Given the description of an element on the screen output the (x, y) to click on. 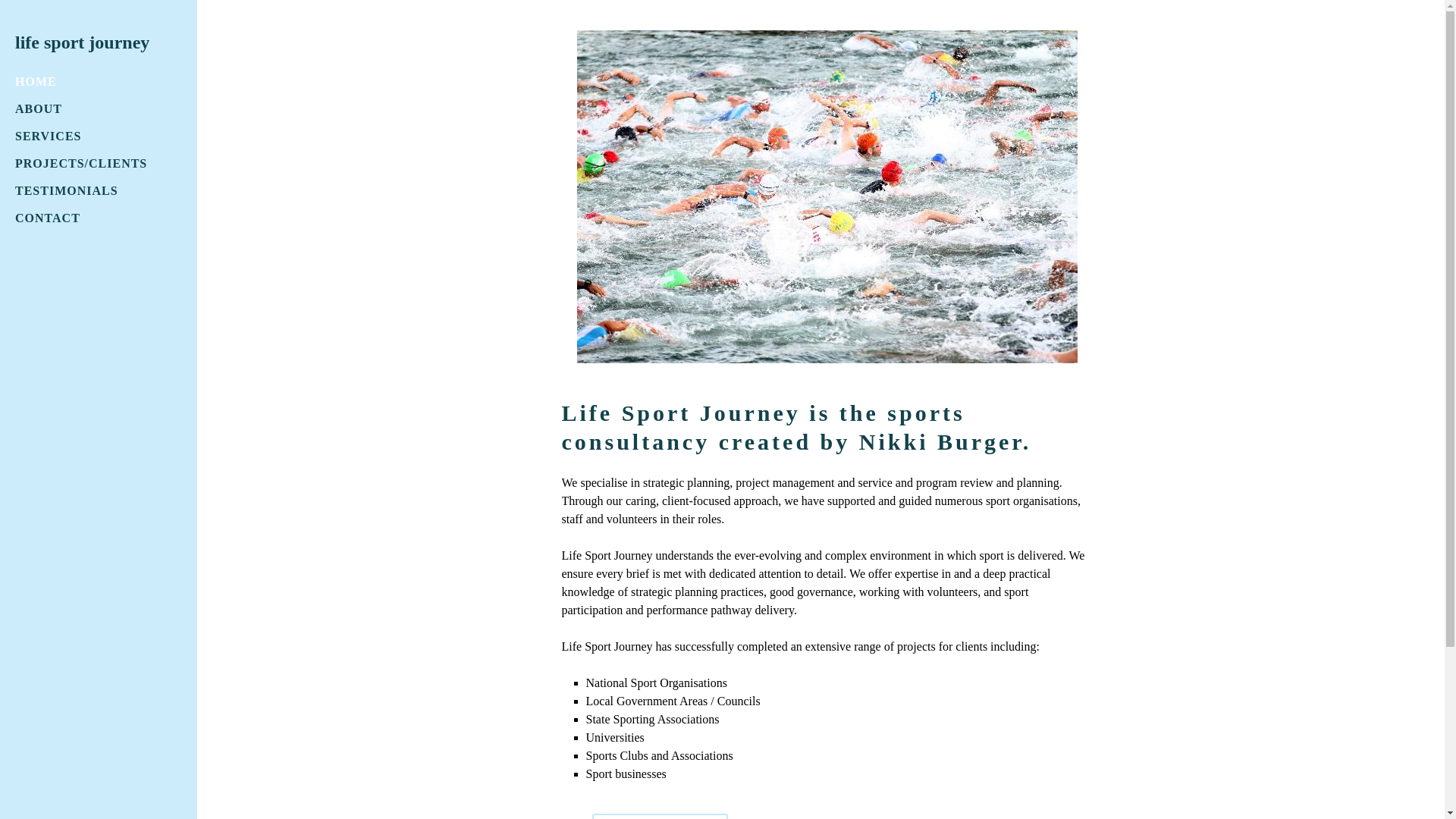
CONTACT Element type: text (47, 217)
HOME Element type: text (35, 81)
ABOUT Element type: text (38, 108)
life sport journey Element type: text (82, 42)
TESTIMONIALS Element type: text (66, 190)
SERVICES Element type: text (48, 135)
PROJECTS/CLIENTS Element type: text (81, 162)
